Given the description of an element on the screen output the (x, y) to click on. 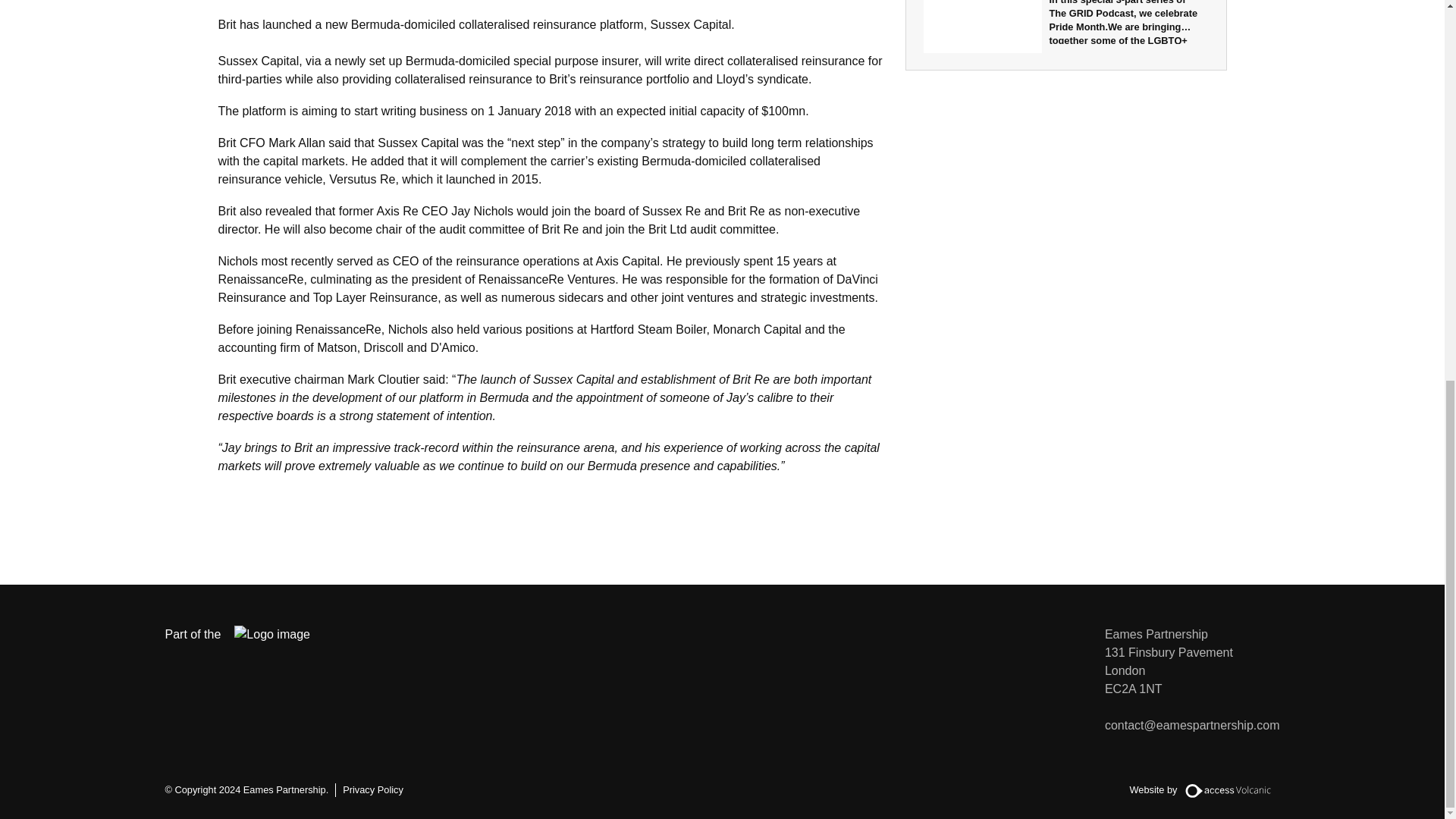
Website by (1204, 790)
Privacy Policy (372, 789)
Part of the (249, 634)
